Given the description of an element on the screen output the (x, y) to click on. 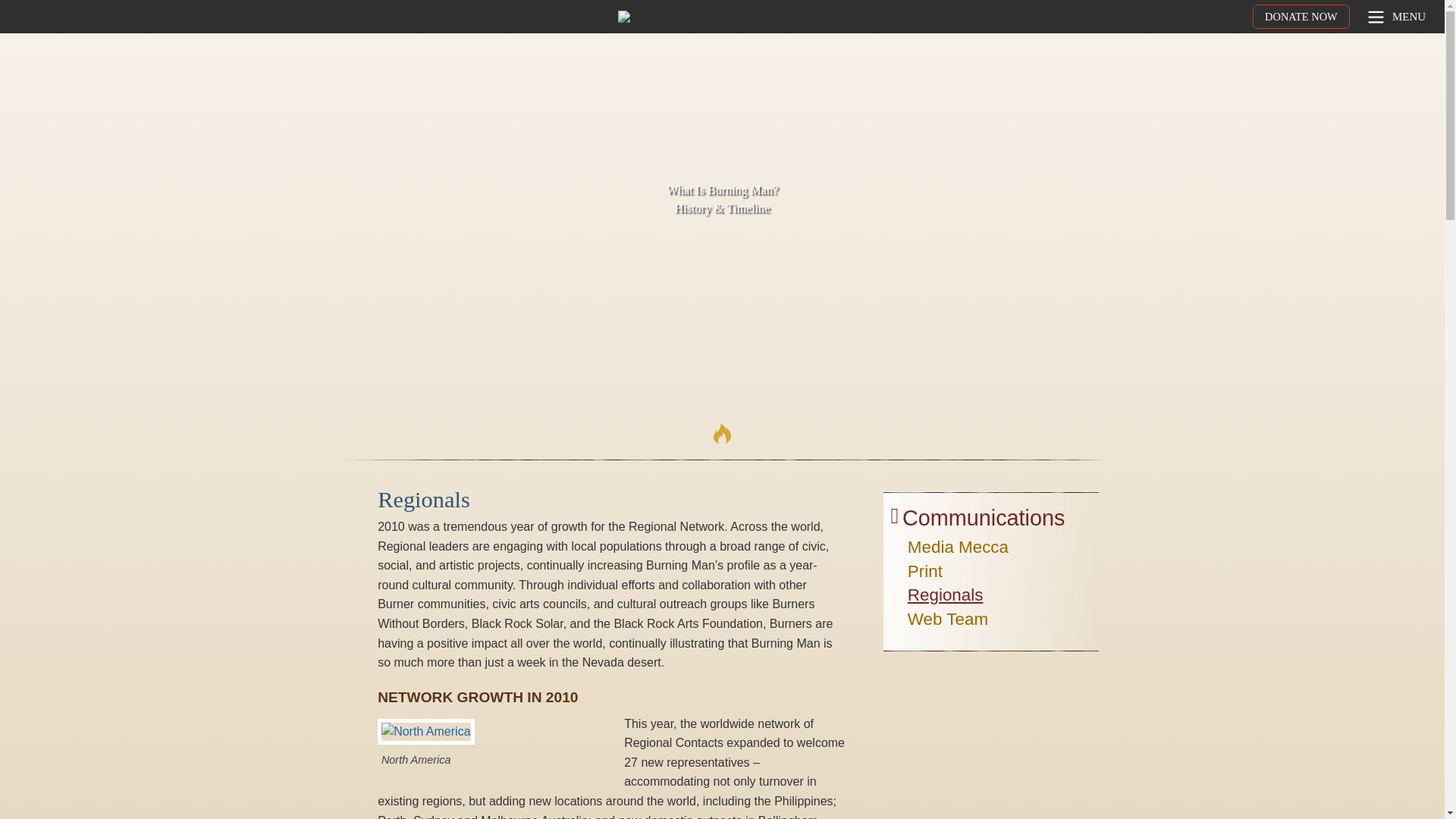
Print (924, 573)
Web Team (947, 621)
DONATE NOW (1300, 16)
Communications (983, 522)
MENU (1395, 16)
Regionals (945, 597)
Media Mecca (958, 549)
